Given the description of an element on the screen output the (x, y) to click on. 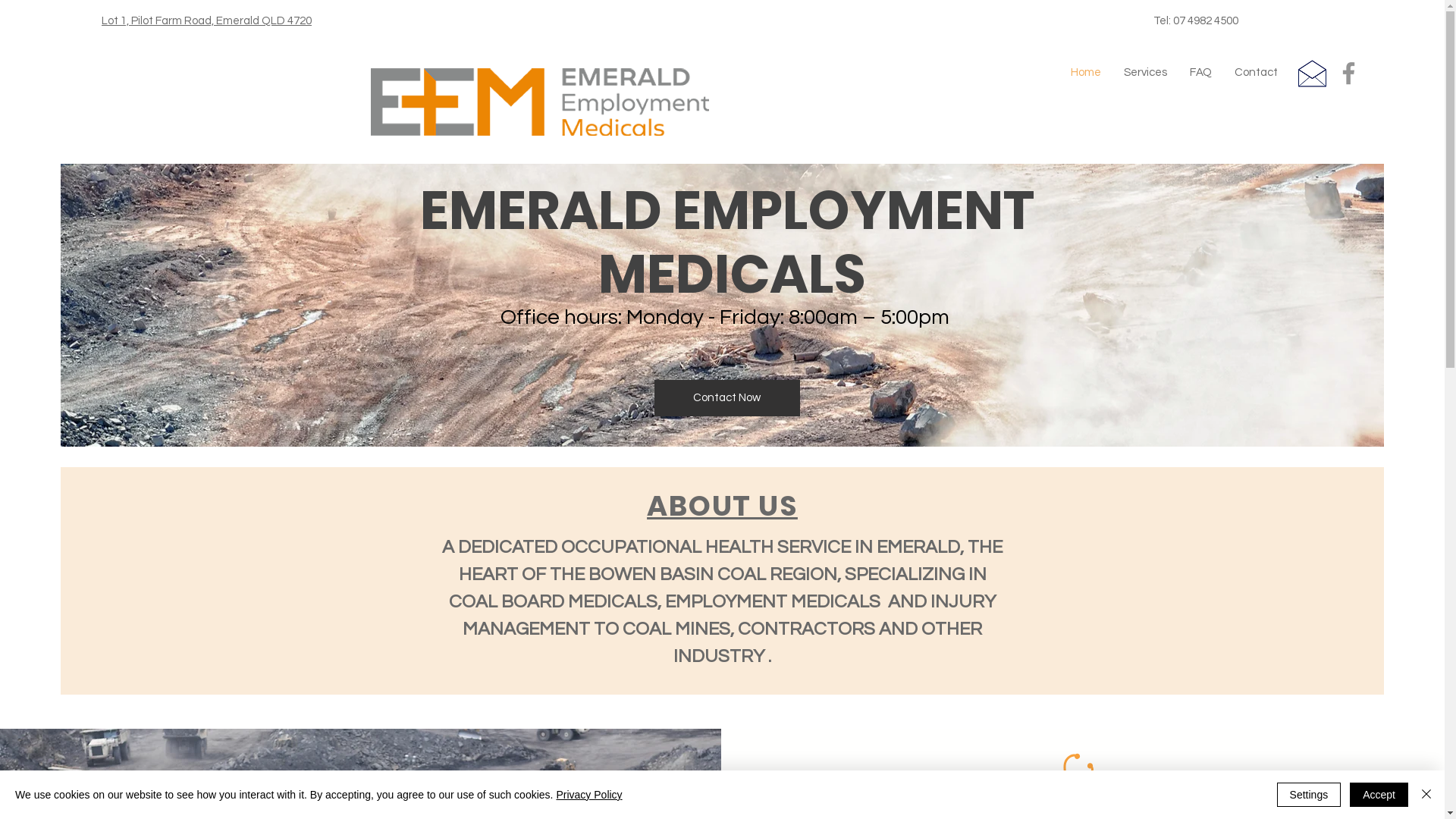
Settings Element type: text (1309, 794)
Home Element type: text (1085, 72)
Privacy Policy Element type: text (588, 794)
FAQ Element type: text (1200, 72)
Contact Element type: text (1256, 72)
Accept Element type: text (1378, 794)
Services Element type: text (1145, 72)
Log In Element type: text (1336, 73)
Contact Now Element type: text (726, 397)
Lot 1, Pilot Farm Road, Emerald QLD 4720 Element type: text (206, 20)
